Given the description of an element on the screen output the (x, y) to click on. 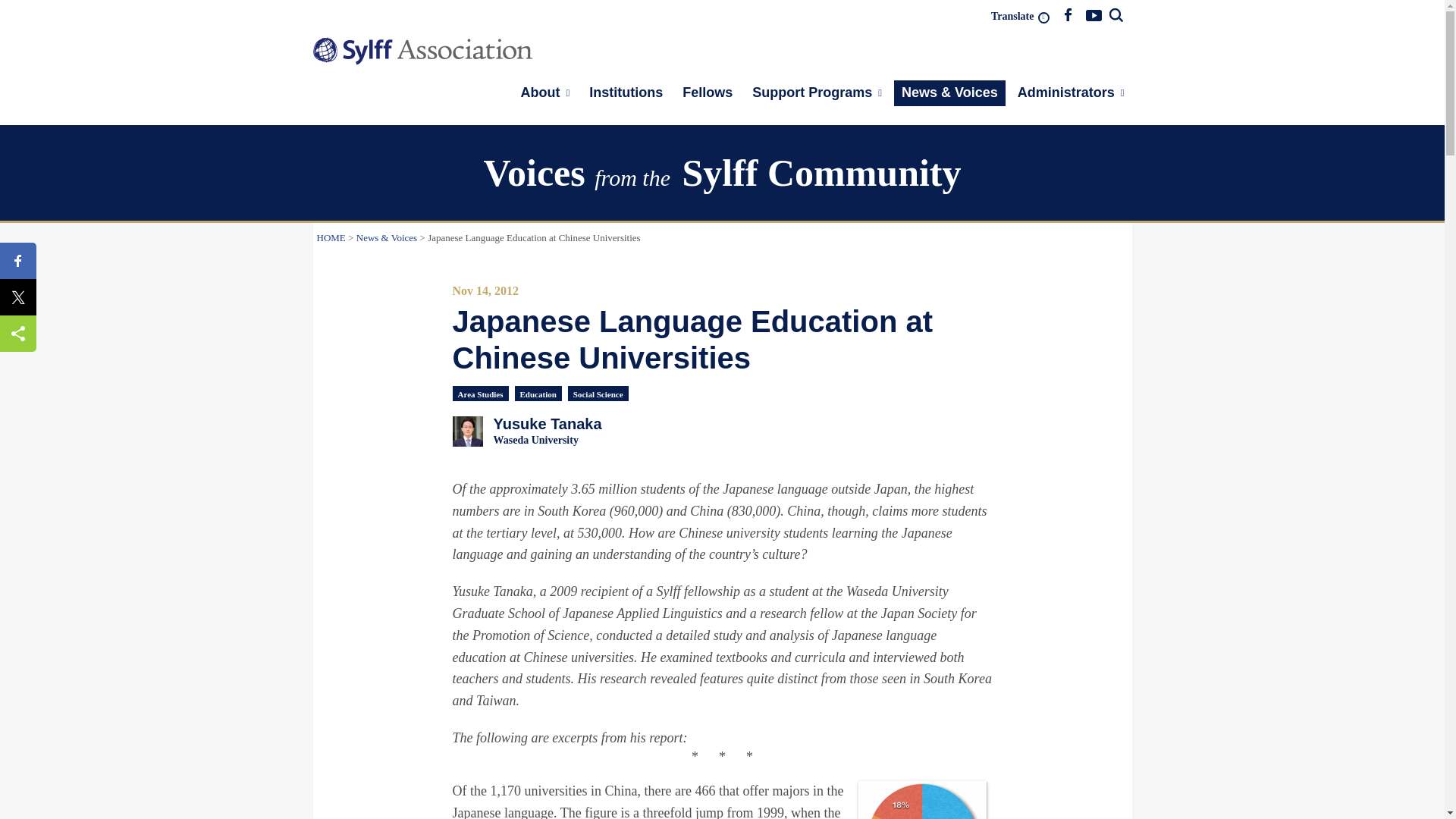
HOME (331, 237)
Fellows (707, 93)
Translate (1018, 17)
Institutions (624, 93)
Education (538, 392)
Area Studies (480, 392)
Administrators (1071, 93)
Support Programs (816, 93)
Social Science (597, 392)
About (722, 431)
